Given the description of an element on the screen output the (x, y) to click on. 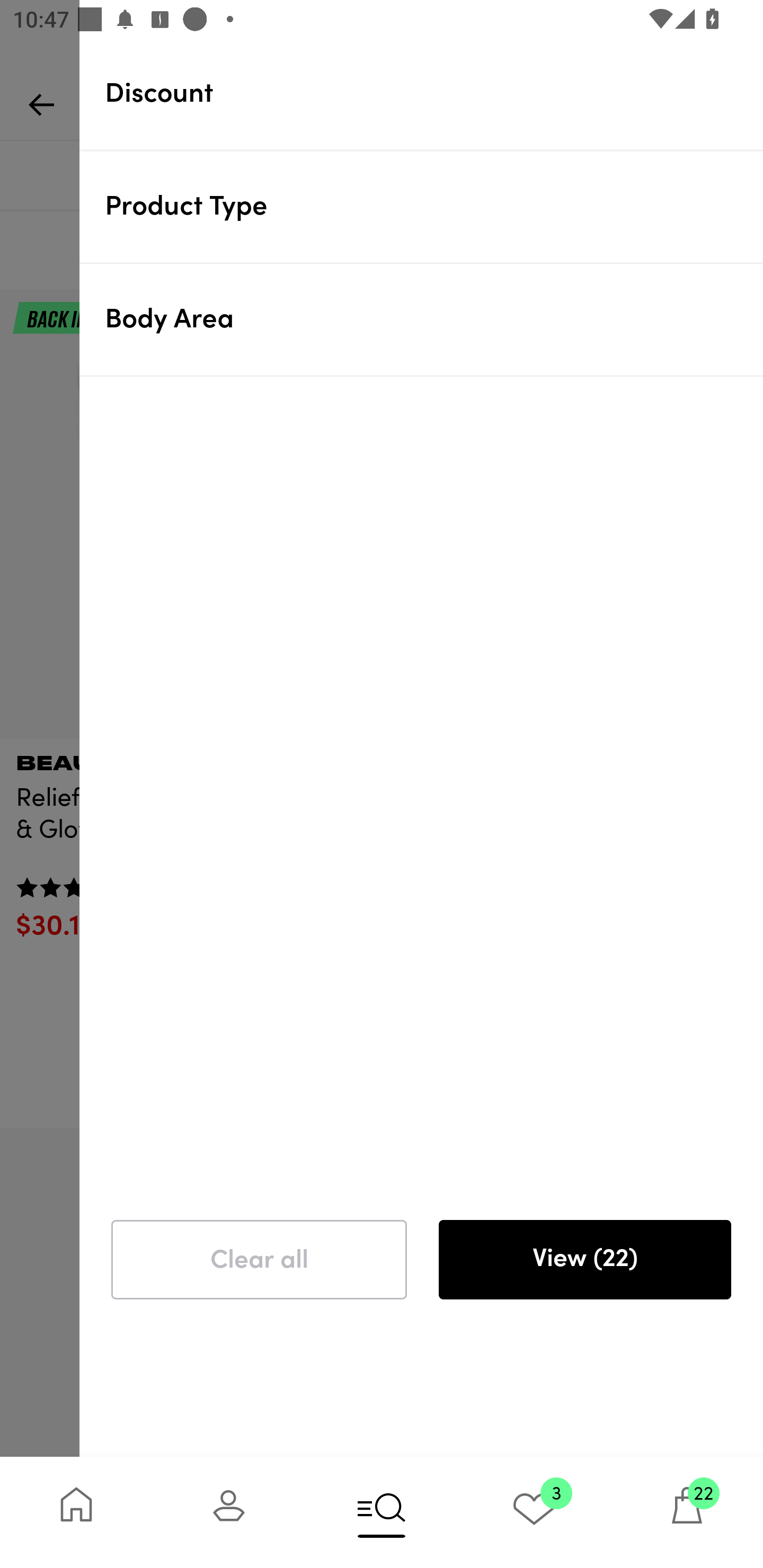
Discount (434, 92)
Product Type (434, 205)
Body Area (434, 318)
Clear all (258, 1259)
View (22) (584, 1259)
3 (533, 1512)
22 (686, 1512)
